Given the description of an element on the screen output the (x, y) to click on. 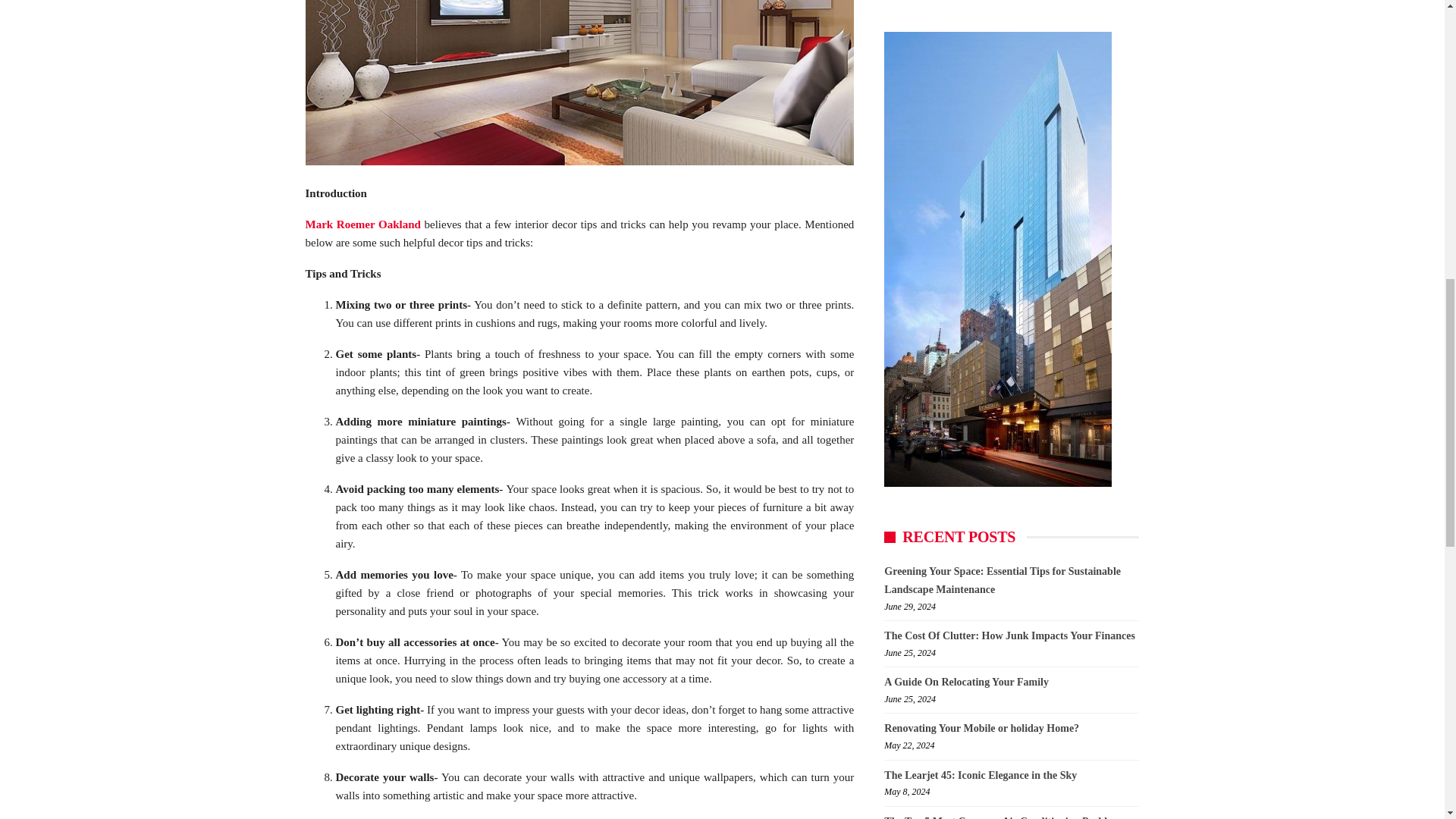
Mark Roemer Oakland (362, 224)
